Given the description of an element on the screen output the (x, y) to click on. 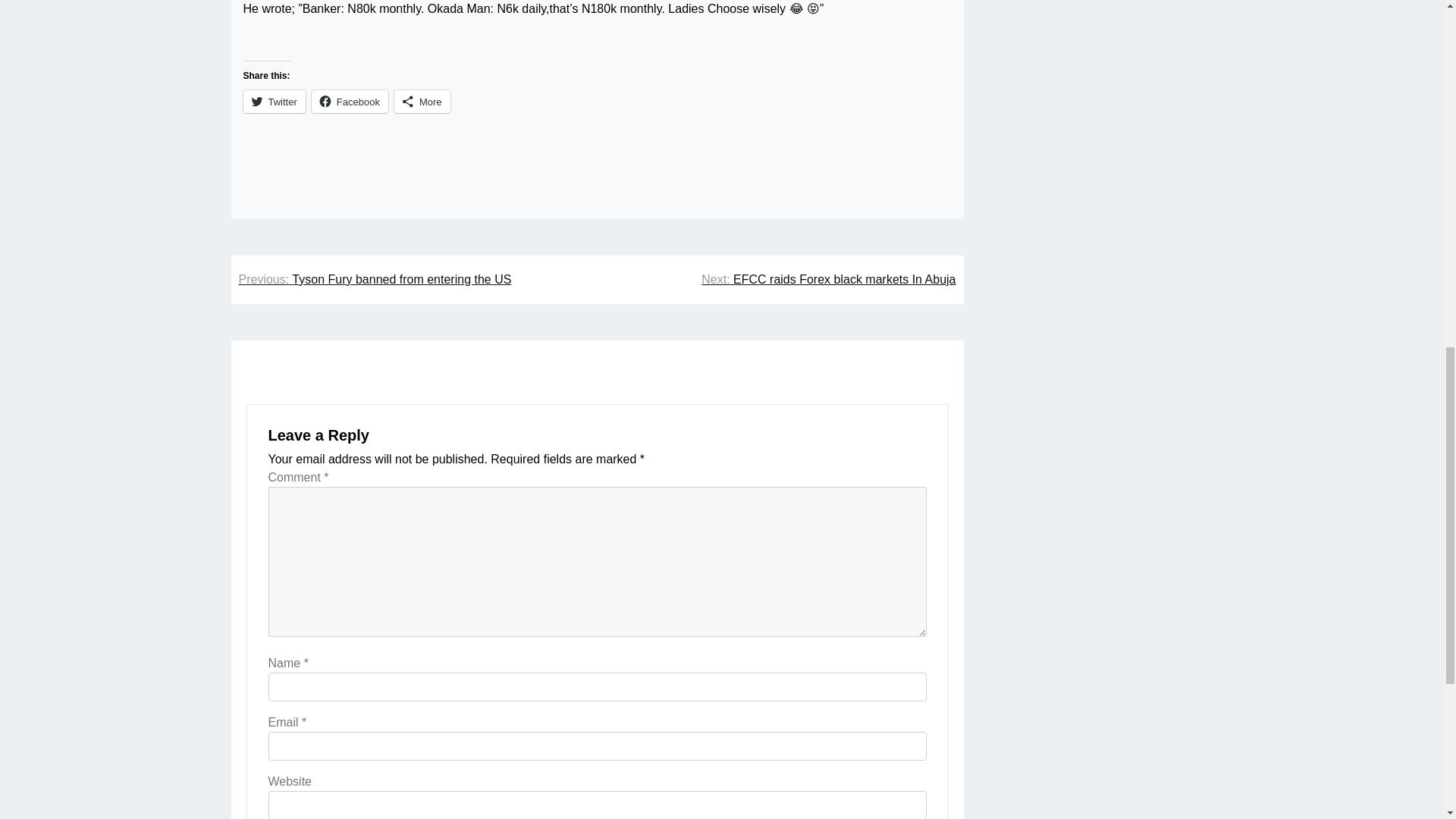
Click to share on Facebook (349, 101)
Twitter (273, 101)
Next: EFCC raids Forex black markets In Abuja (828, 280)
More (421, 101)
Previous: Tyson Fury banned from entering the US (374, 280)
Facebook (349, 101)
Click to share on Twitter (273, 101)
